Given the description of an element on the screen output the (x, y) to click on. 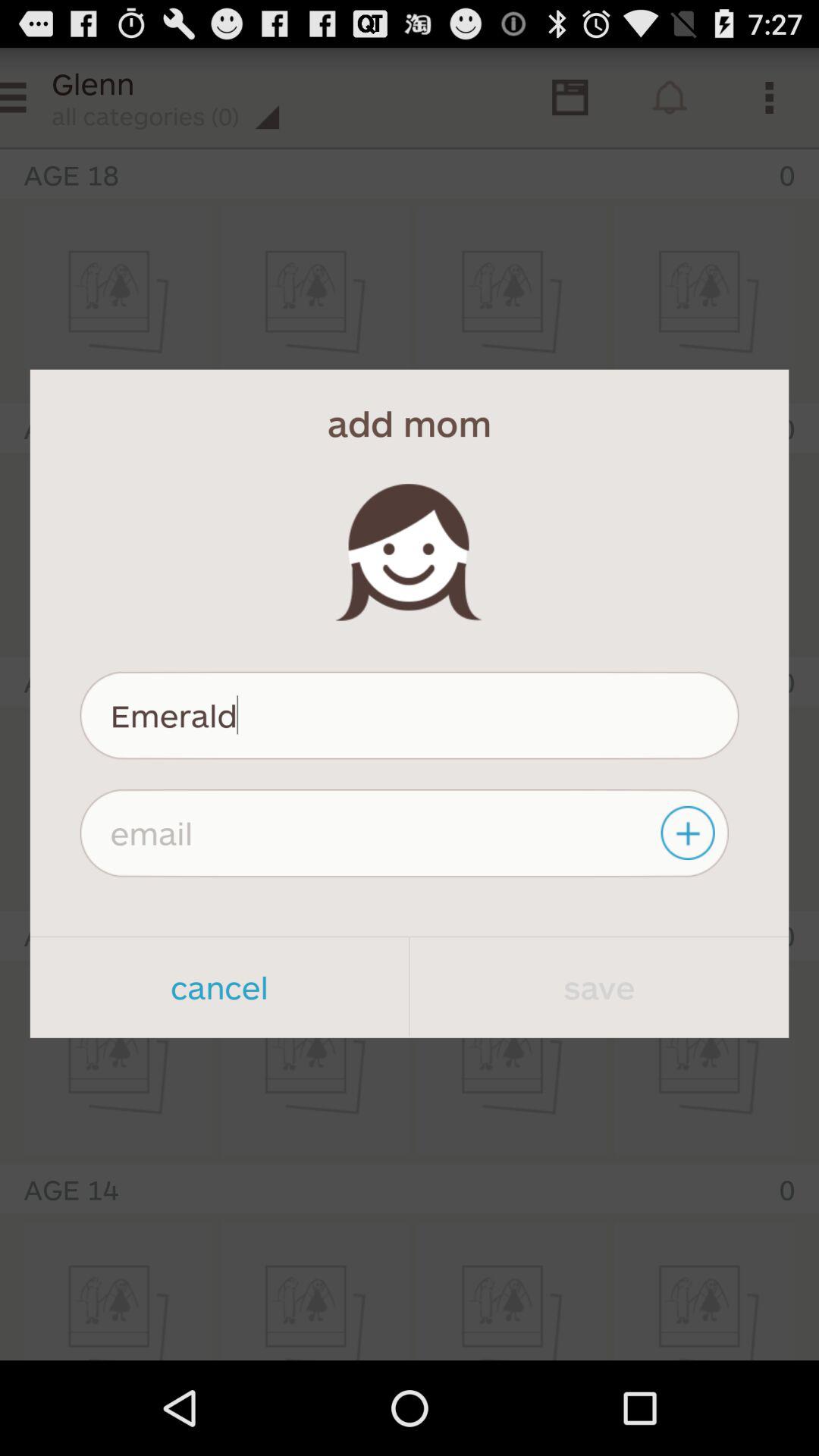
email (404, 833)
